Given the description of an element on the screen output the (x, y) to click on. 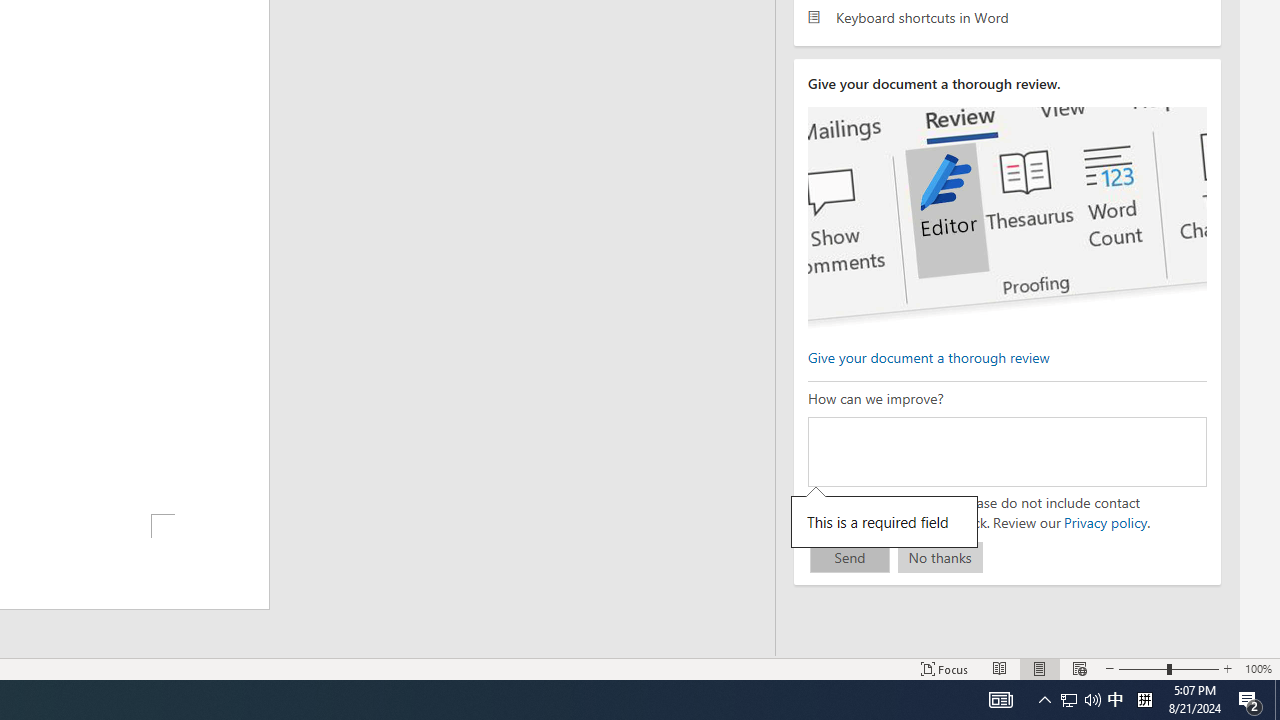
Zoom 100% (1258, 668)
Give your document a thorough review (928, 356)
Privacy policy (1104, 522)
Keyboard shortcuts in Word (1007, 16)
No thanks (940, 557)
editor ui screenshot (1007, 218)
Send (849, 557)
How can we improve? (1007, 451)
